Given the description of an element on the screen output the (x, y) to click on. 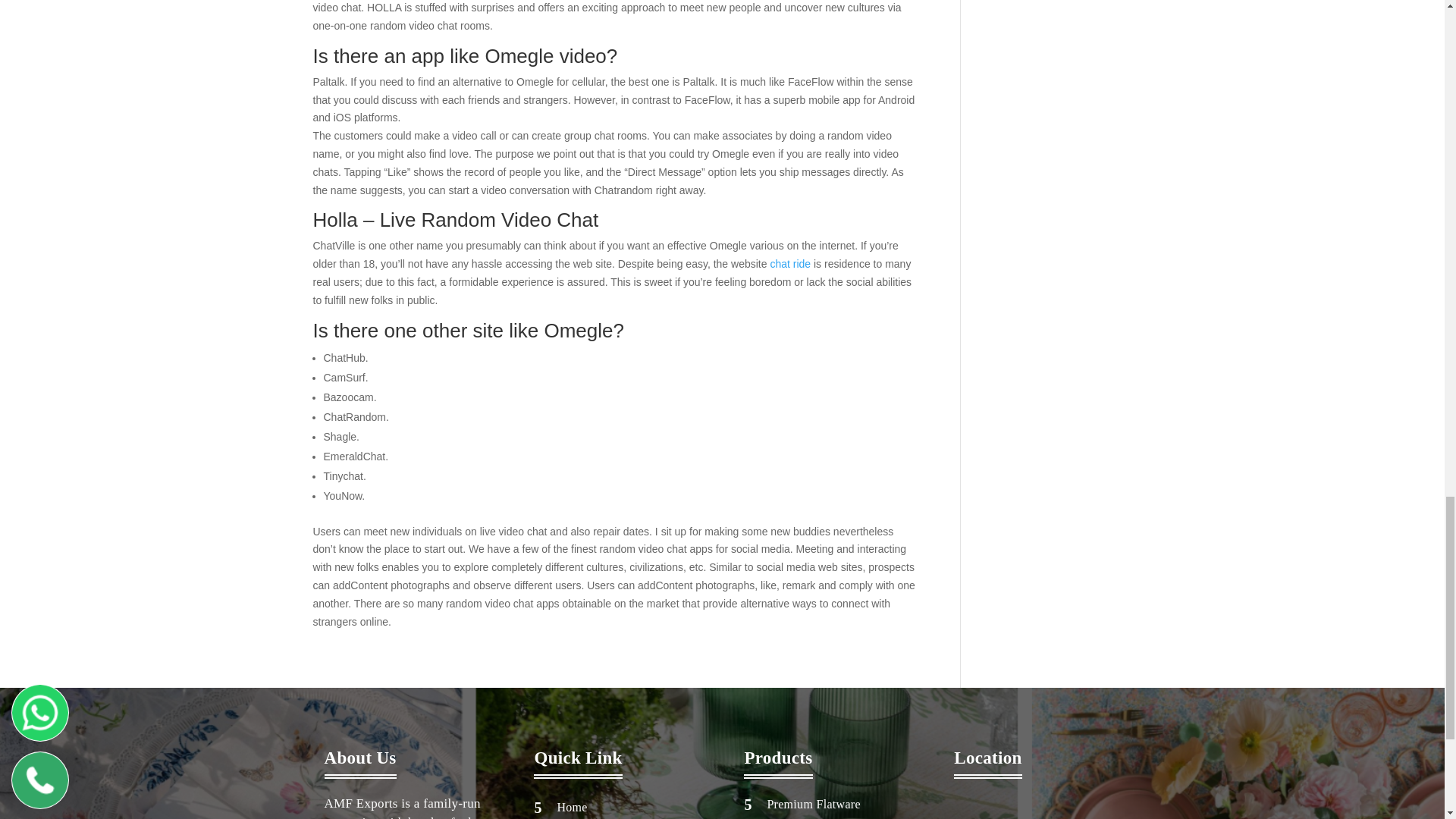
Home (571, 807)
chat ride (790, 263)
Premium Flatware (813, 803)
